Given the description of an element on the screen output the (x, y) to click on. 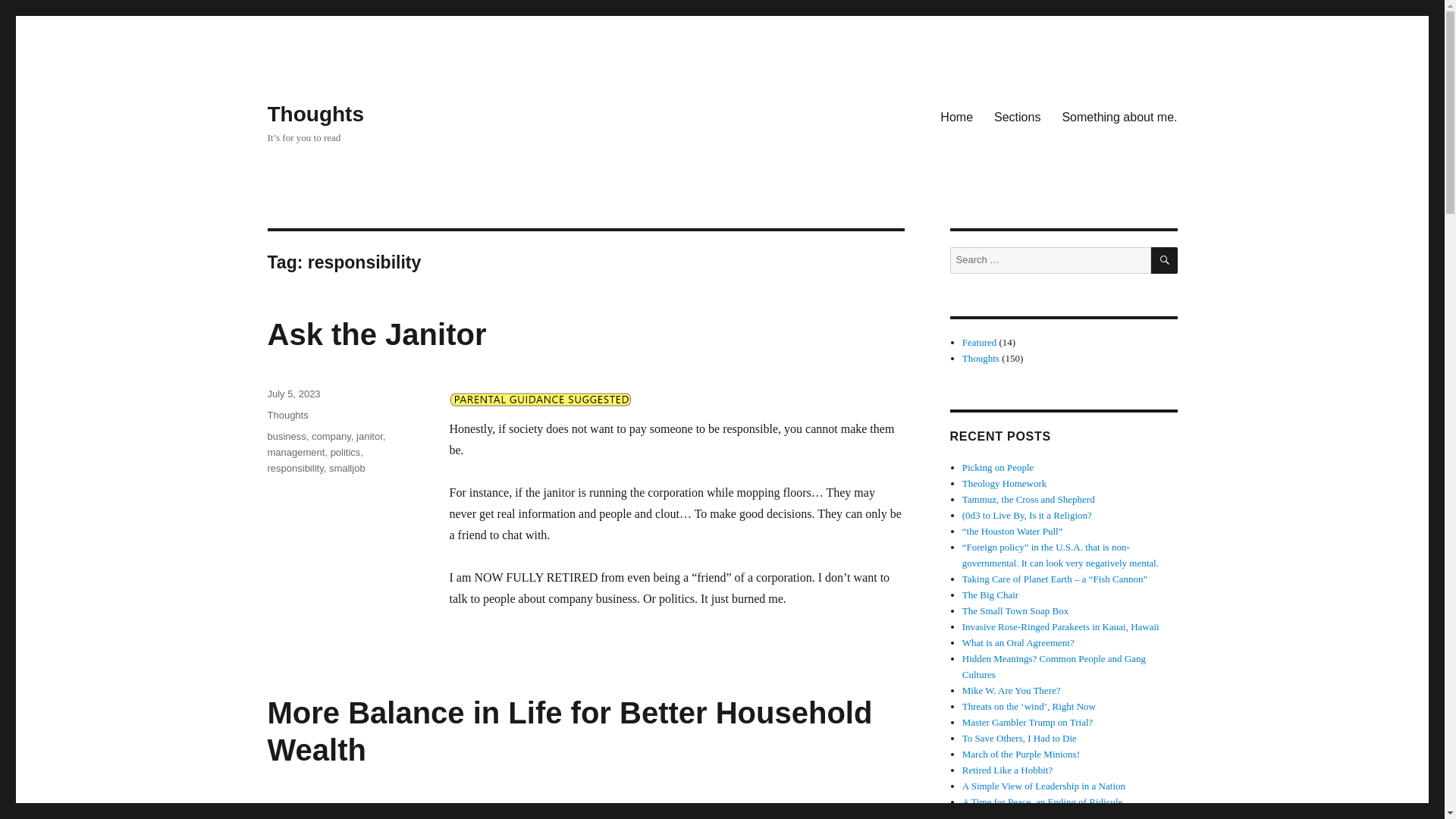
Theology Homework (1004, 482)
Thoughts (980, 357)
June 26, 2023 (297, 808)
More Balance in Life for Better Household Wealth (569, 731)
Sections (1017, 116)
management (295, 451)
Thoughts (315, 114)
Tammuz, the Cross and Shepherd (1028, 499)
July 5, 2023 (293, 393)
Picking on People (997, 467)
